Given the description of an element on the screen output the (x, y) to click on. 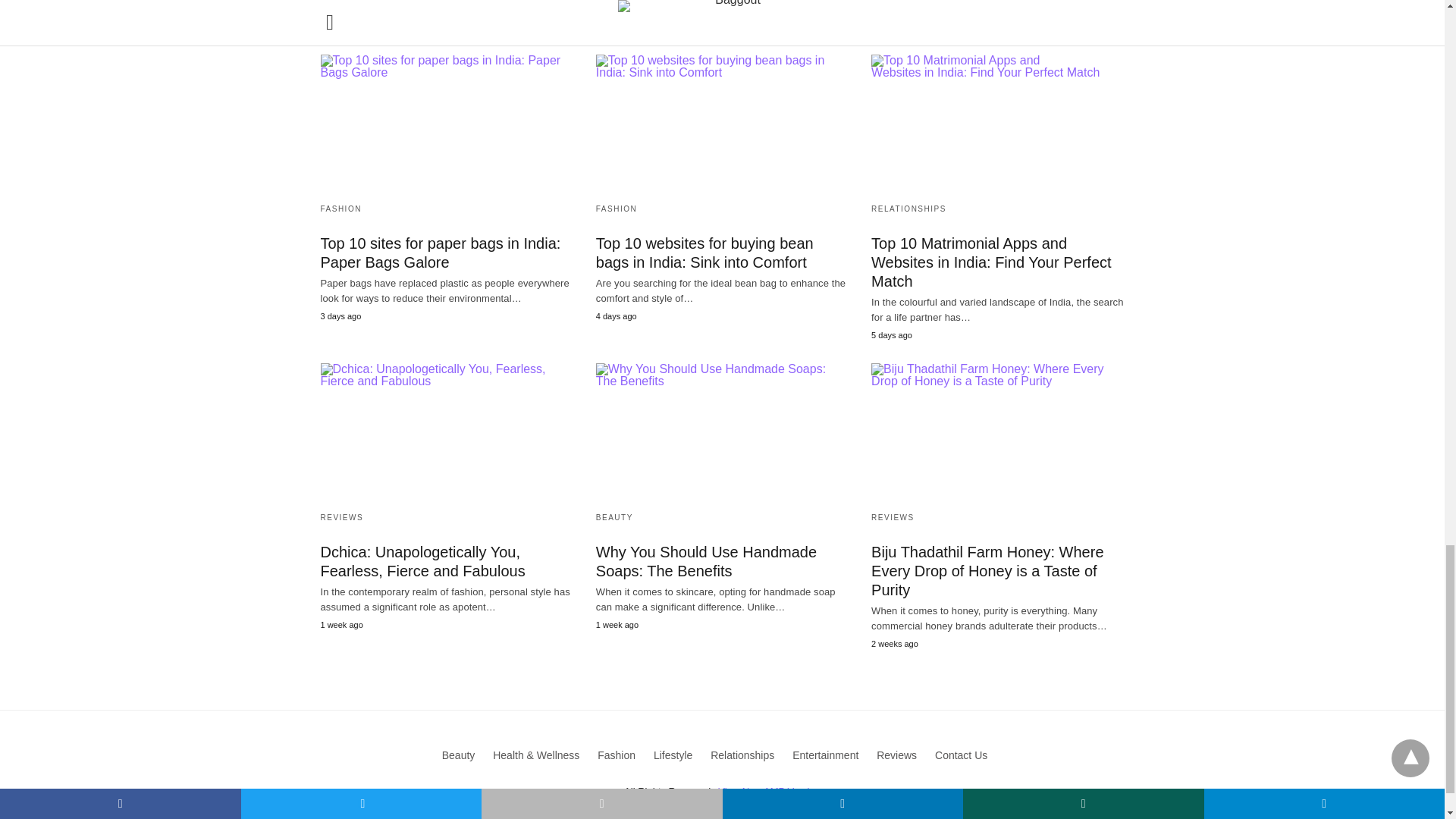
Dchica: Unapologetically You, Fearless, Fierce and Fabulous (446, 431)
Leave a Comment (834, 2)
RELATIONSHIPS (908, 208)
FASHION (616, 208)
View Non-AMP Version (769, 790)
Top 10 sites for paper bags in India: Paper Bags Galore (446, 122)
Why You Should Use Handmade Soaps: The Benefits (721, 431)
